Given the description of an element on the screen output the (x, y) to click on. 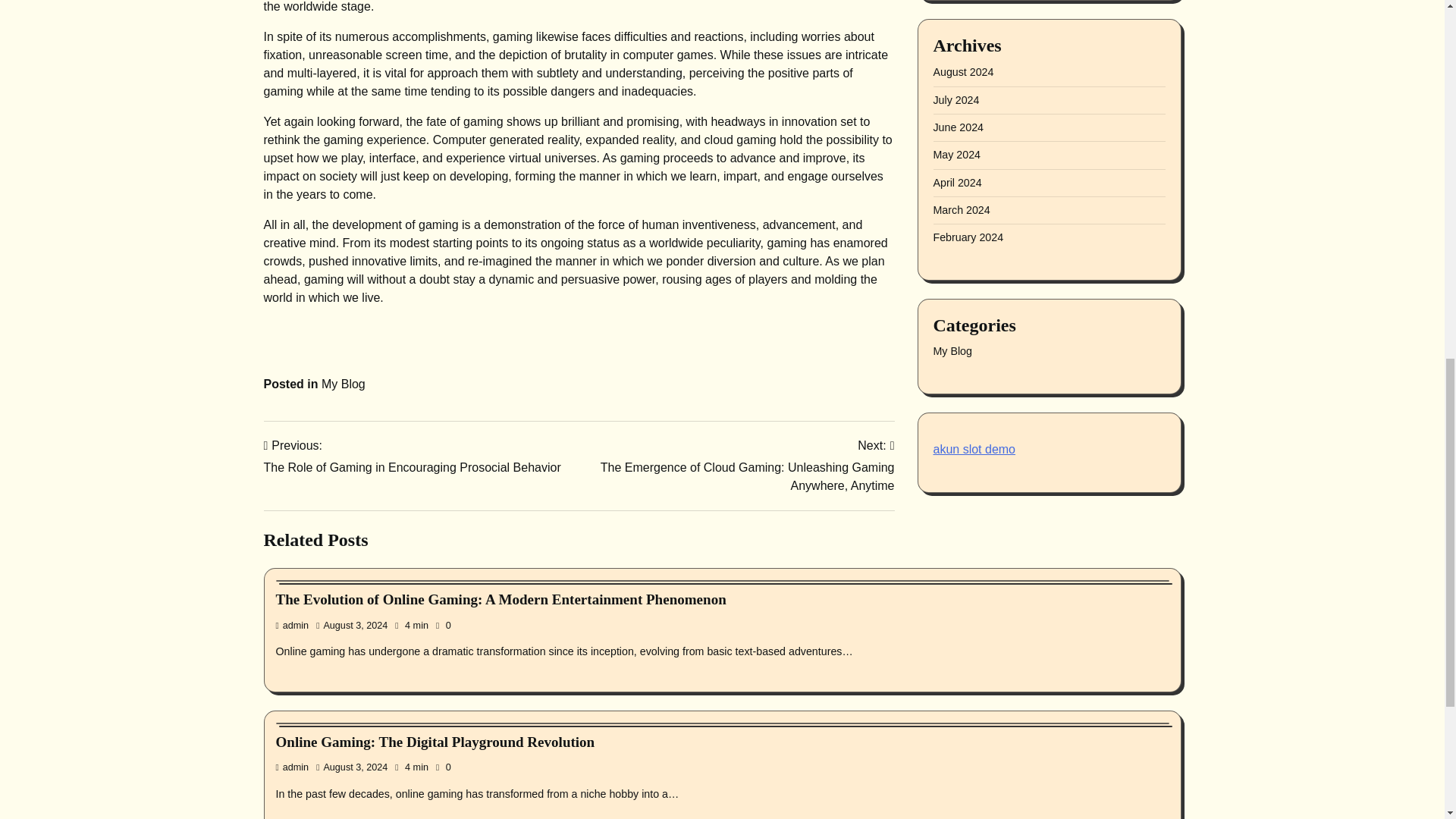
admin (292, 624)
Online Gaming: The Digital Playground Revolution (435, 741)
My Blog (343, 383)
admin (292, 767)
February 2024 (968, 17)
My Blog (952, 131)
akun slot demo (973, 228)
